Given the description of an element on the screen output the (x, y) to click on. 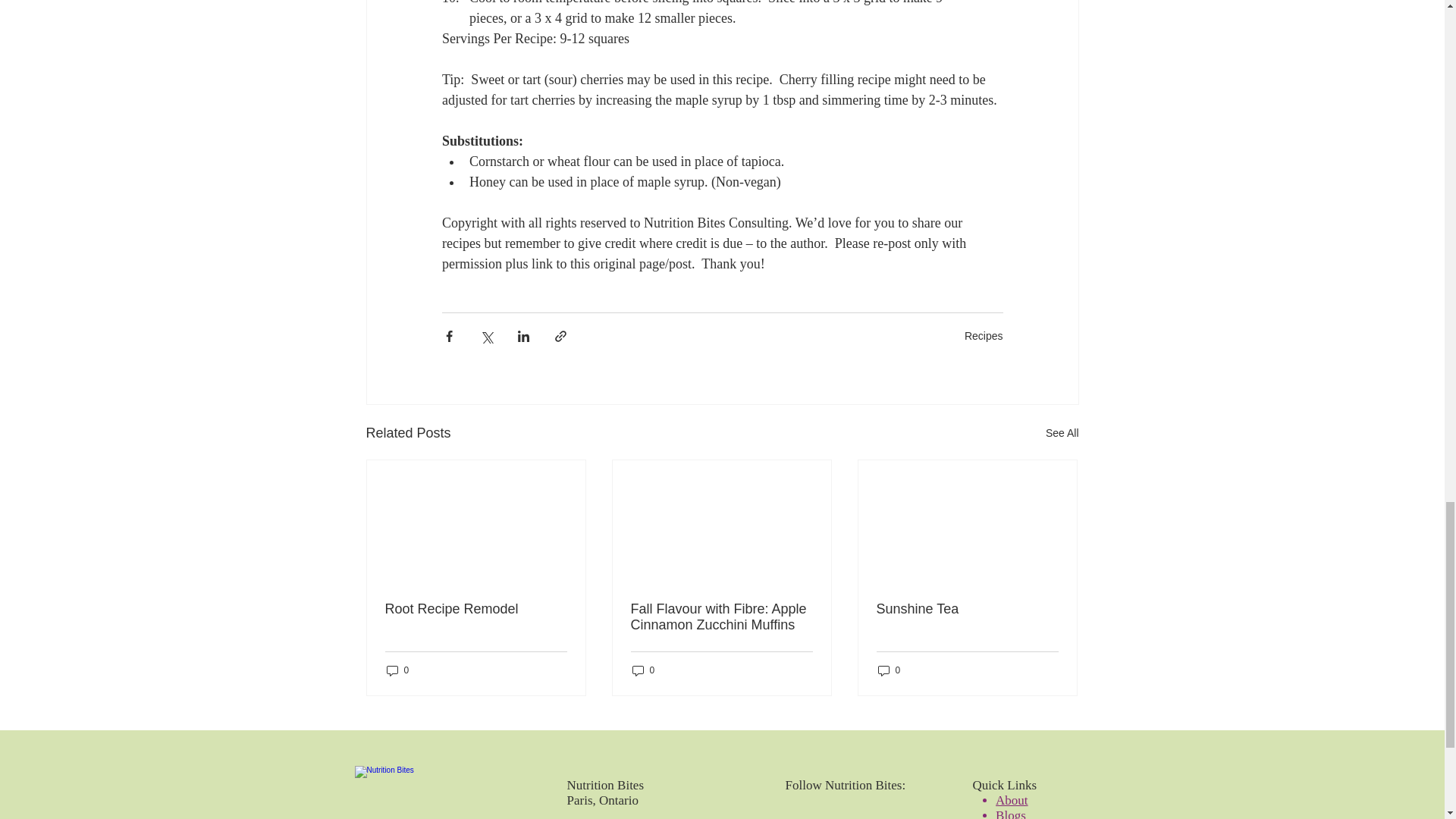
Recipes (983, 336)
Fall Flavour with Fibre: Apple Cinnamon Zucchini Muffins (721, 617)
Root Recipe Remodel (476, 609)
0 (397, 670)
Sunshine Tea (967, 609)
See All (1061, 433)
0 (889, 670)
0 (643, 670)
